Given the description of an element on the screen output the (x, y) to click on. 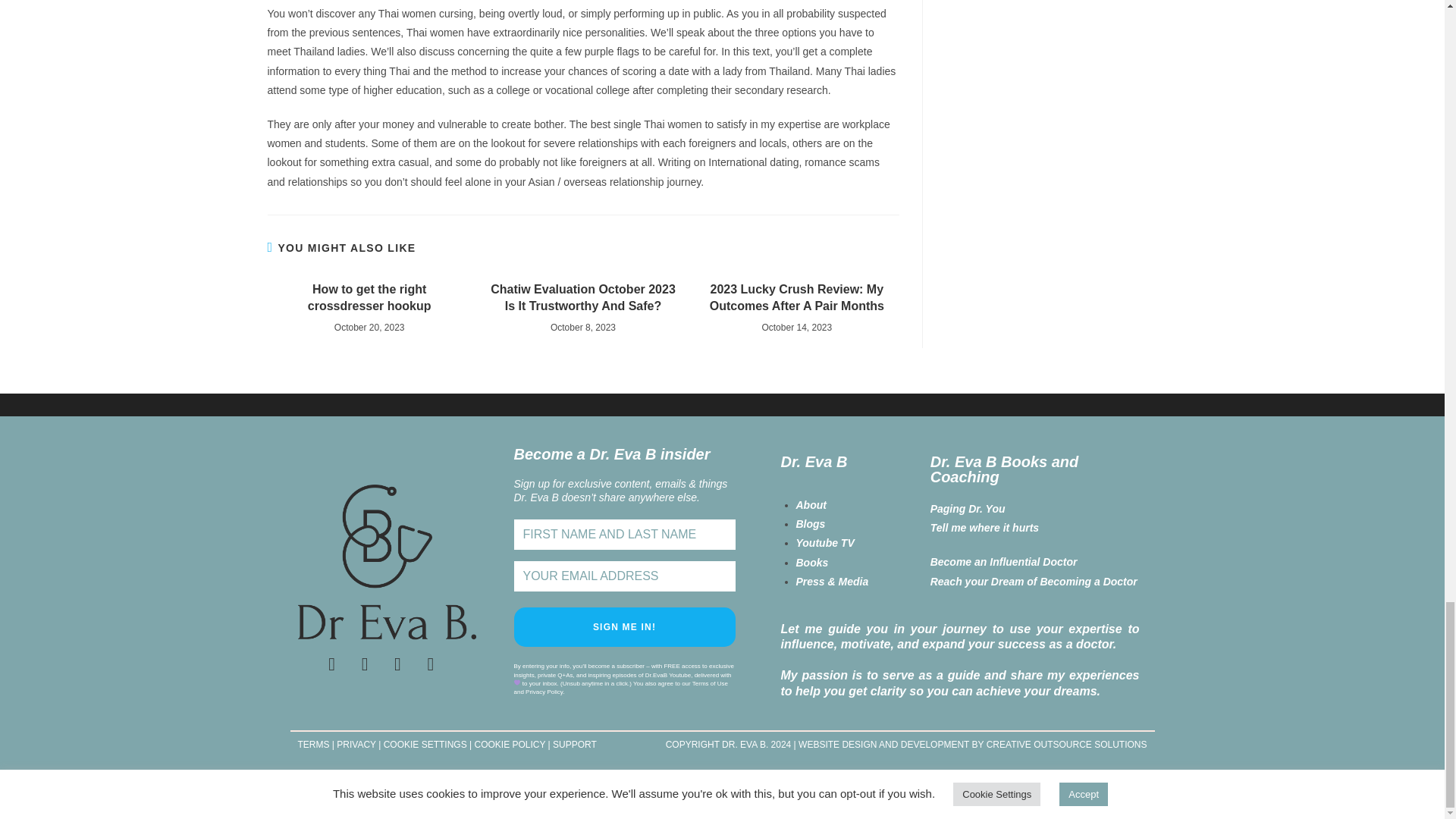
2023 Lucky Crush Review: My Outcomes After A Pair Months (796, 298)
Chatiw Evaluation October 2023 Is It Trustworthy And Safe? (582, 298)
How to get the right crossdresser hookup (368, 298)
